Given the description of an element on the screen output the (x, y) to click on. 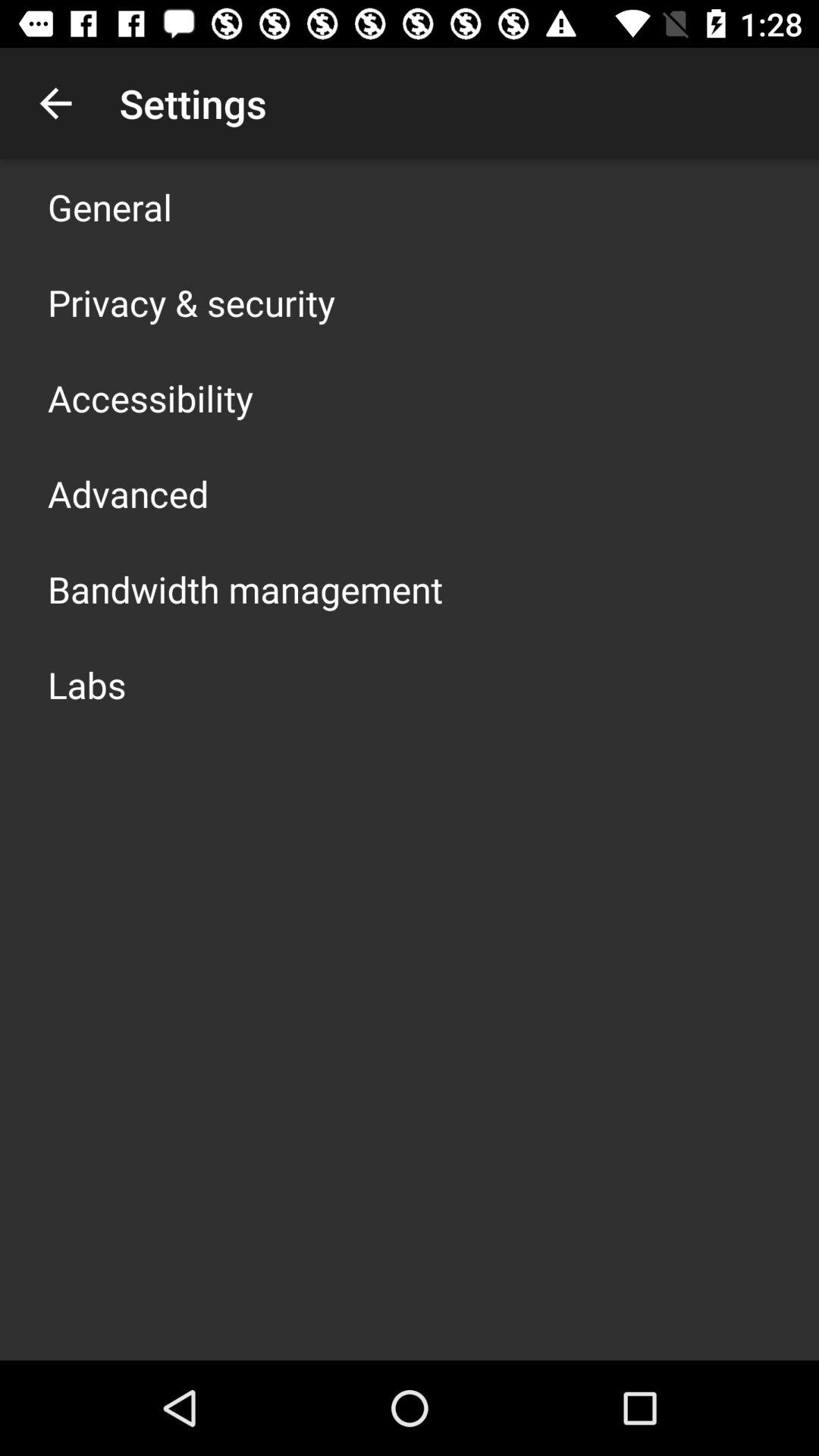
turn off the app below bandwidth management item (86, 684)
